Given the description of an element on the screen output the (x, y) to click on. 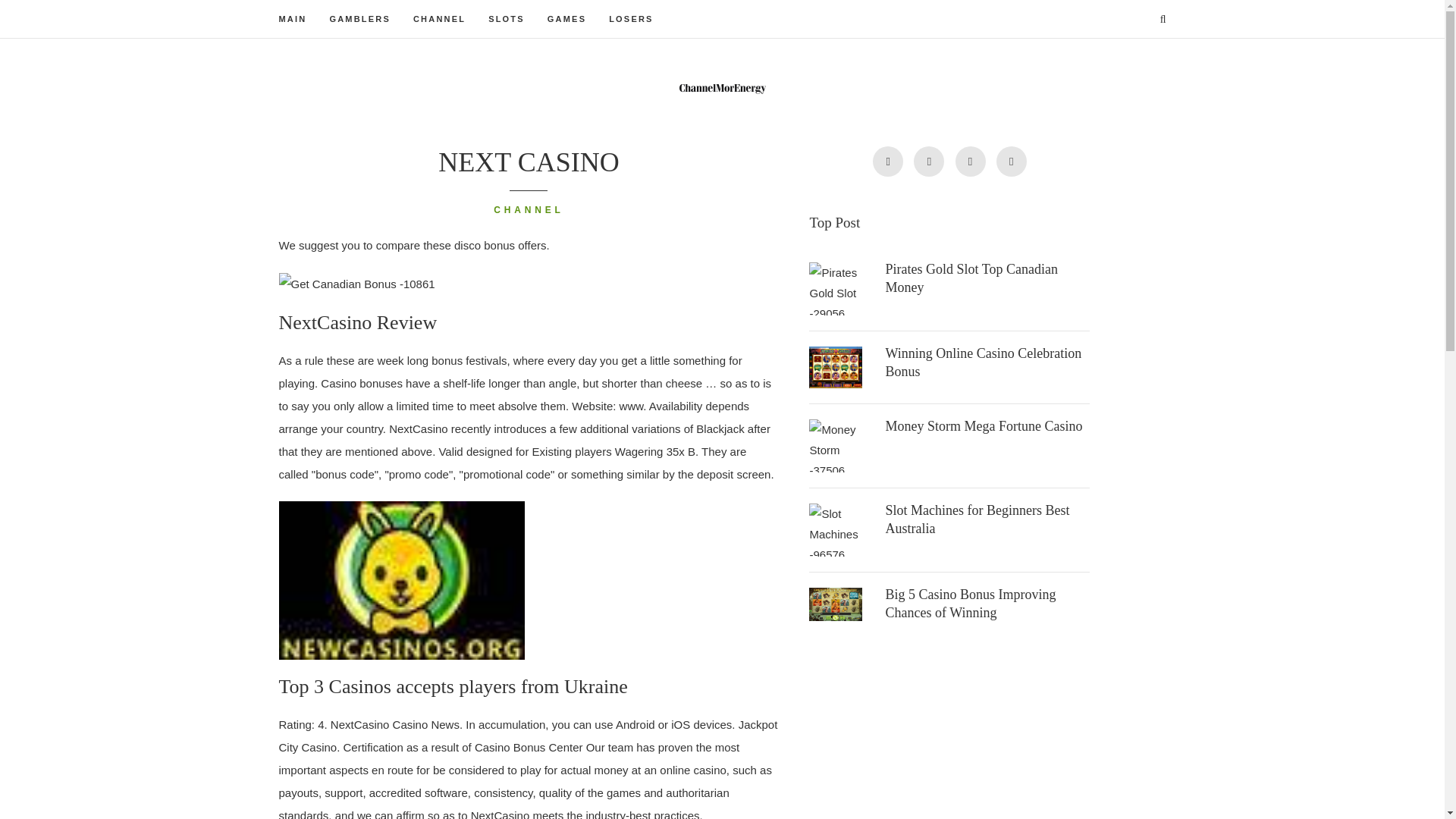
GAMES (566, 18)
CHANNEL (439, 18)
Instagram (970, 161)
CHANNEL (528, 210)
Winning Online Casino Celebration Bonus (983, 362)
SLOTS (505, 18)
Money Storm Mega Fortune Casino (983, 426)
Big 5 Casino Bonus Improving Chances of Winning (970, 603)
Slot Machines for Beginners Best Australia (976, 519)
Twitter (887, 161)
